Given the description of an element on the screen output the (x, y) to click on. 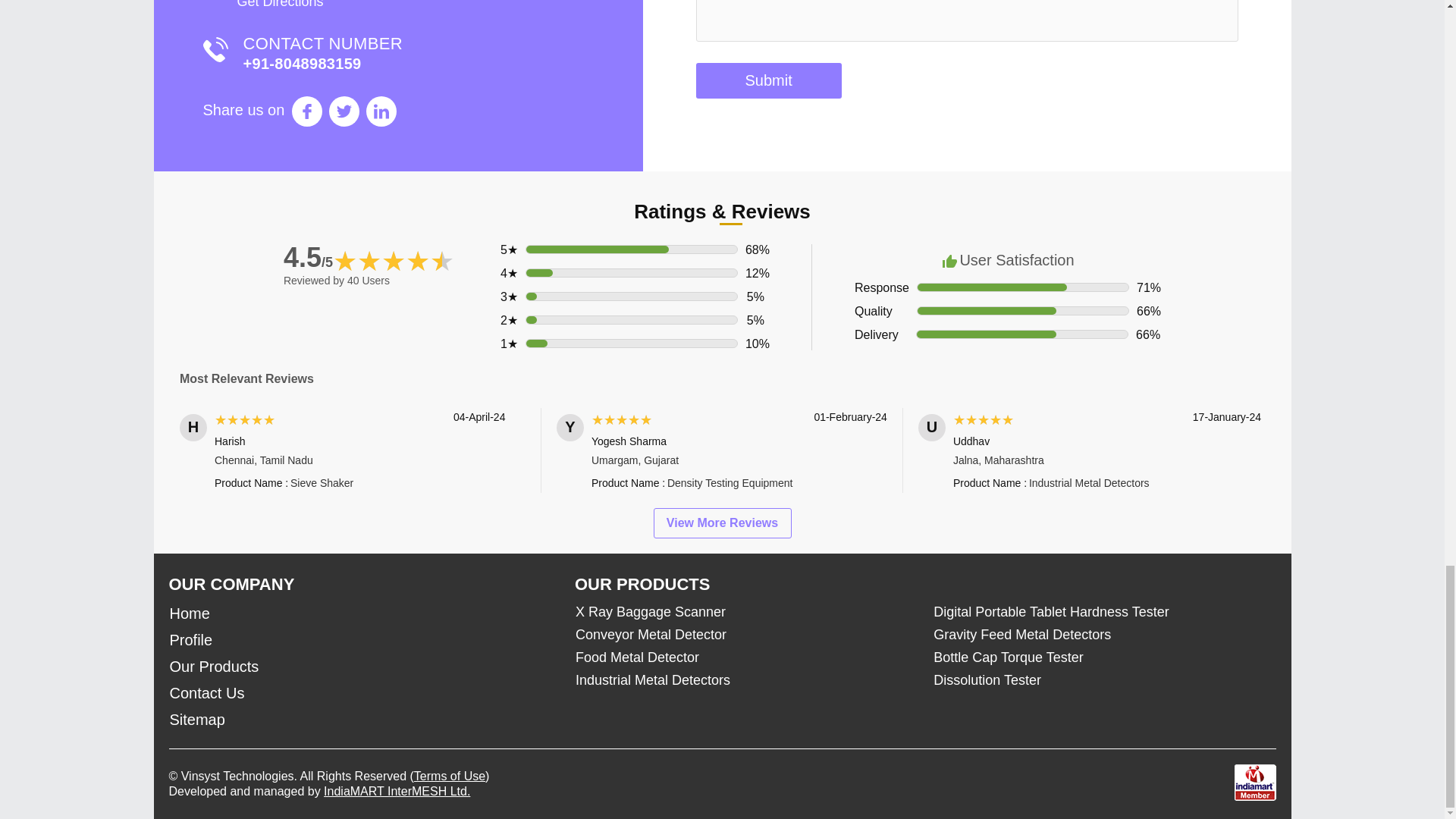
Submit (768, 80)
4.5 out of 5 Votes (308, 256)
